Given the description of an element on the screen output the (x, y) to click on. 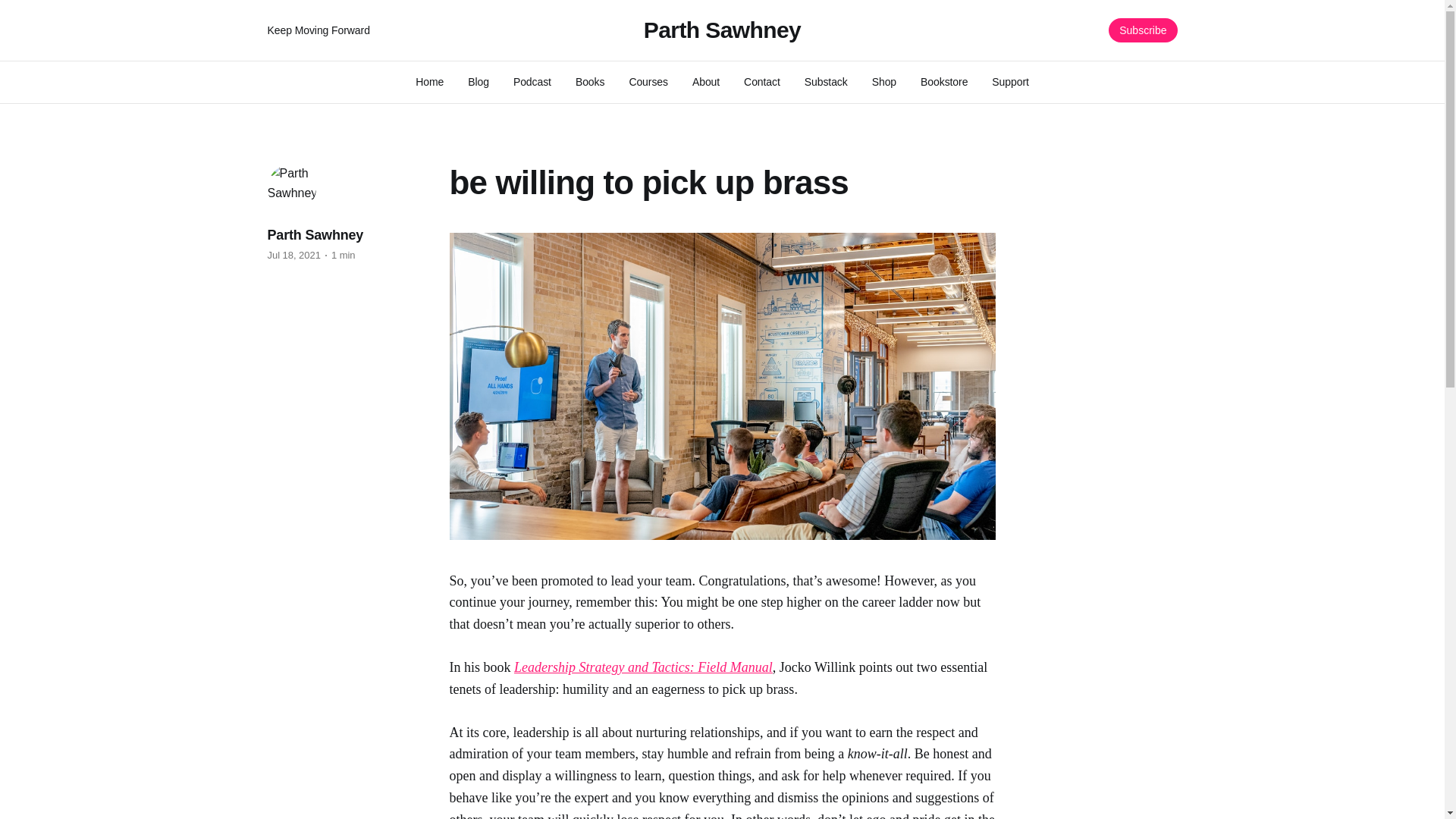
Support (1009, 81)
Leadership Strategy and Tactics: Field Manual (643, 667)
Parth Sawhney (314, 234)
Substack (826, 81)
Home (429, 81)
Blog (478, 81)
Bookstore (944, 81)
Shop (884, 81)
Contact (762, 81)
Podcast (532, 81)
Subscribe (1142, 30)
Books (590, 81)
About (706, 81)
Keep Moving Forward (442, 30)
Parth Sawhney (721, 29)
